Given the description of an element on the screen output the (x, y) to click on. 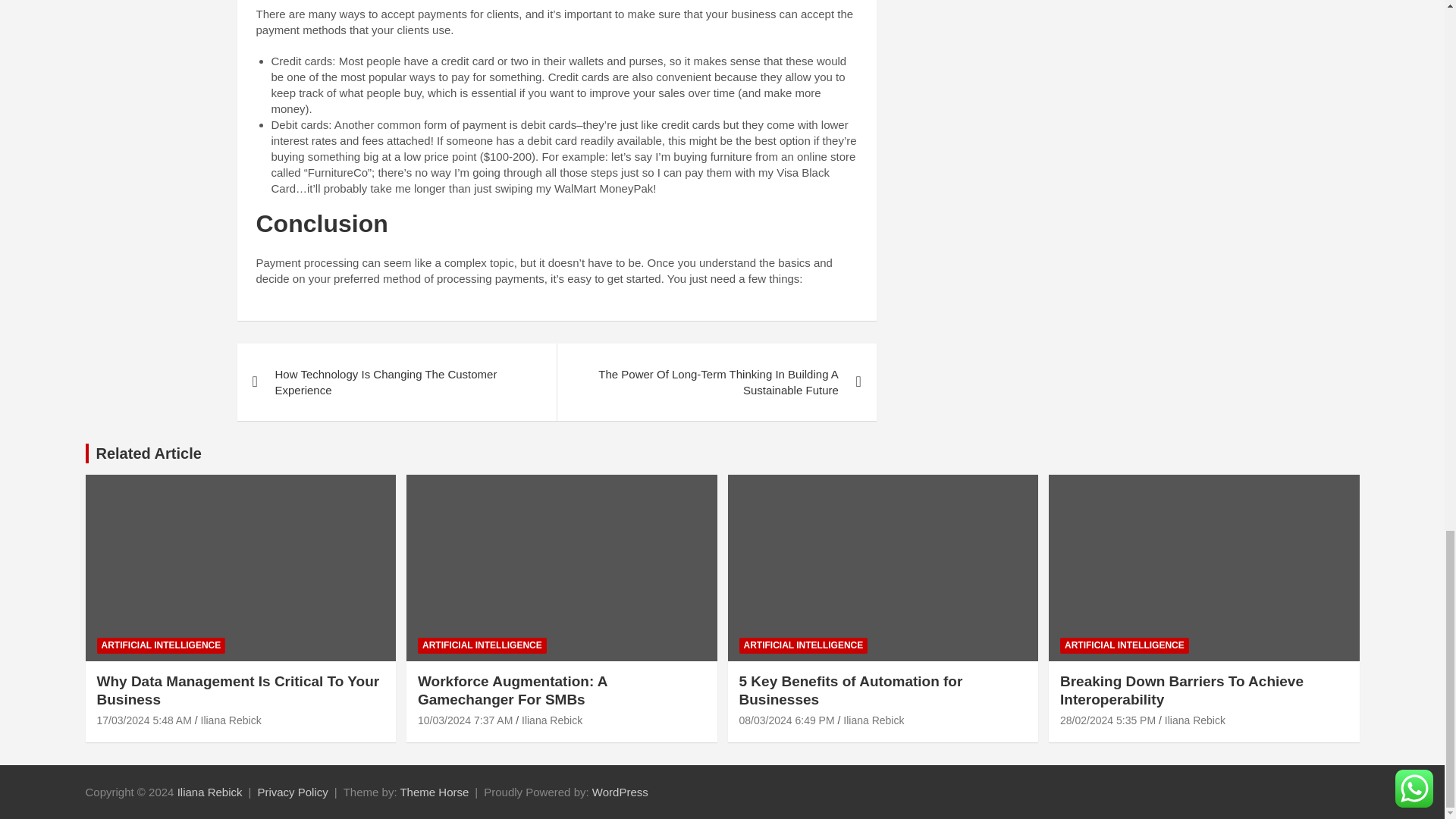
How Technology Is Changing The Customer Experience (395, 381)
